Given the description of an element on the screen output the (x, y) to click on. 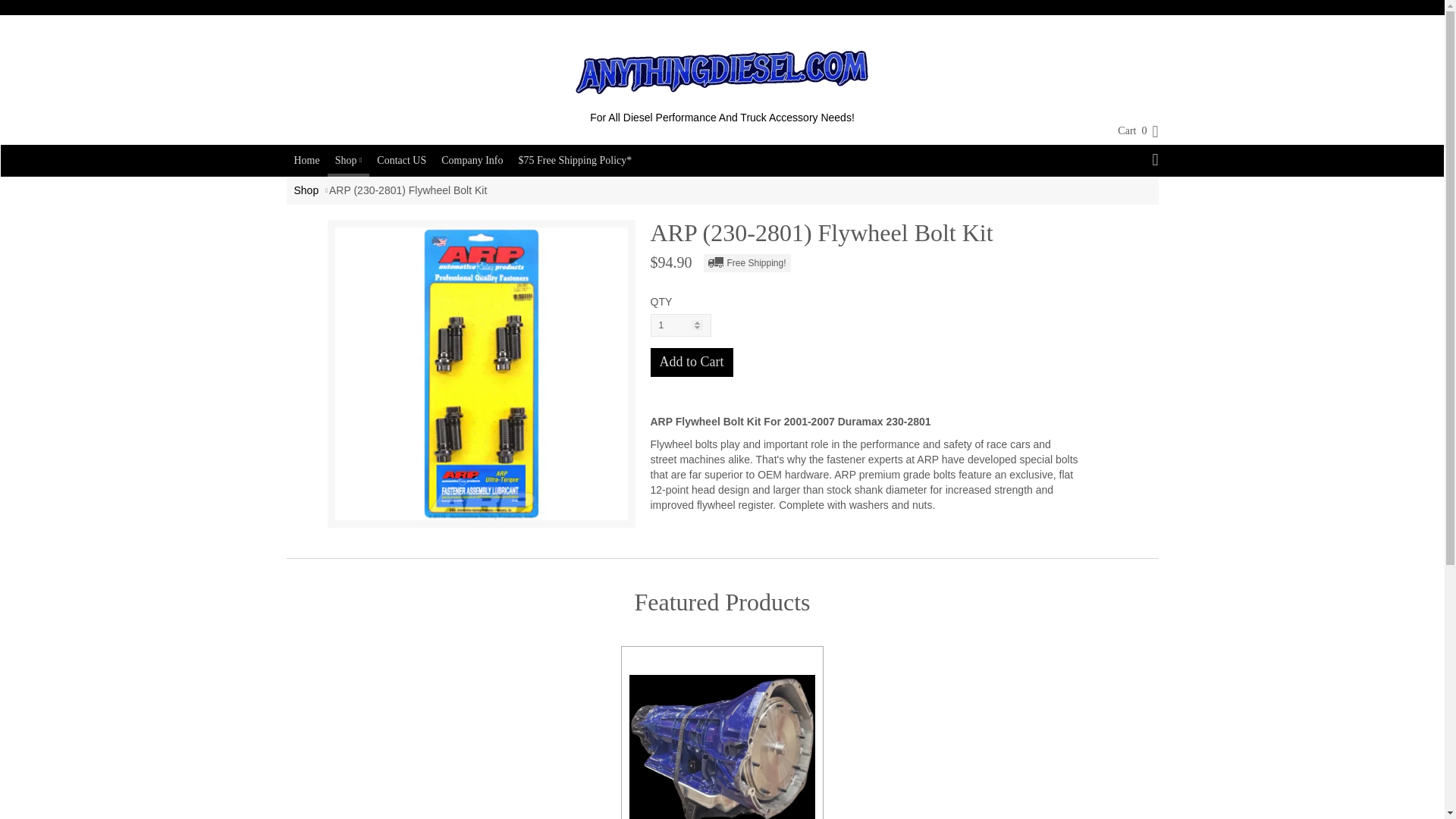
Shop (306, 190)
Shop (348, 158)
Add to Cart (691, 362)
Cart  0   (1129, 131)
Add to Cart (691, 362)
1 (680, 324)
Home (306, 160)
Company Info (472, 160)
Contact US (401, 160)
